Given the description of an element on the screen output the (x, y) to click on. 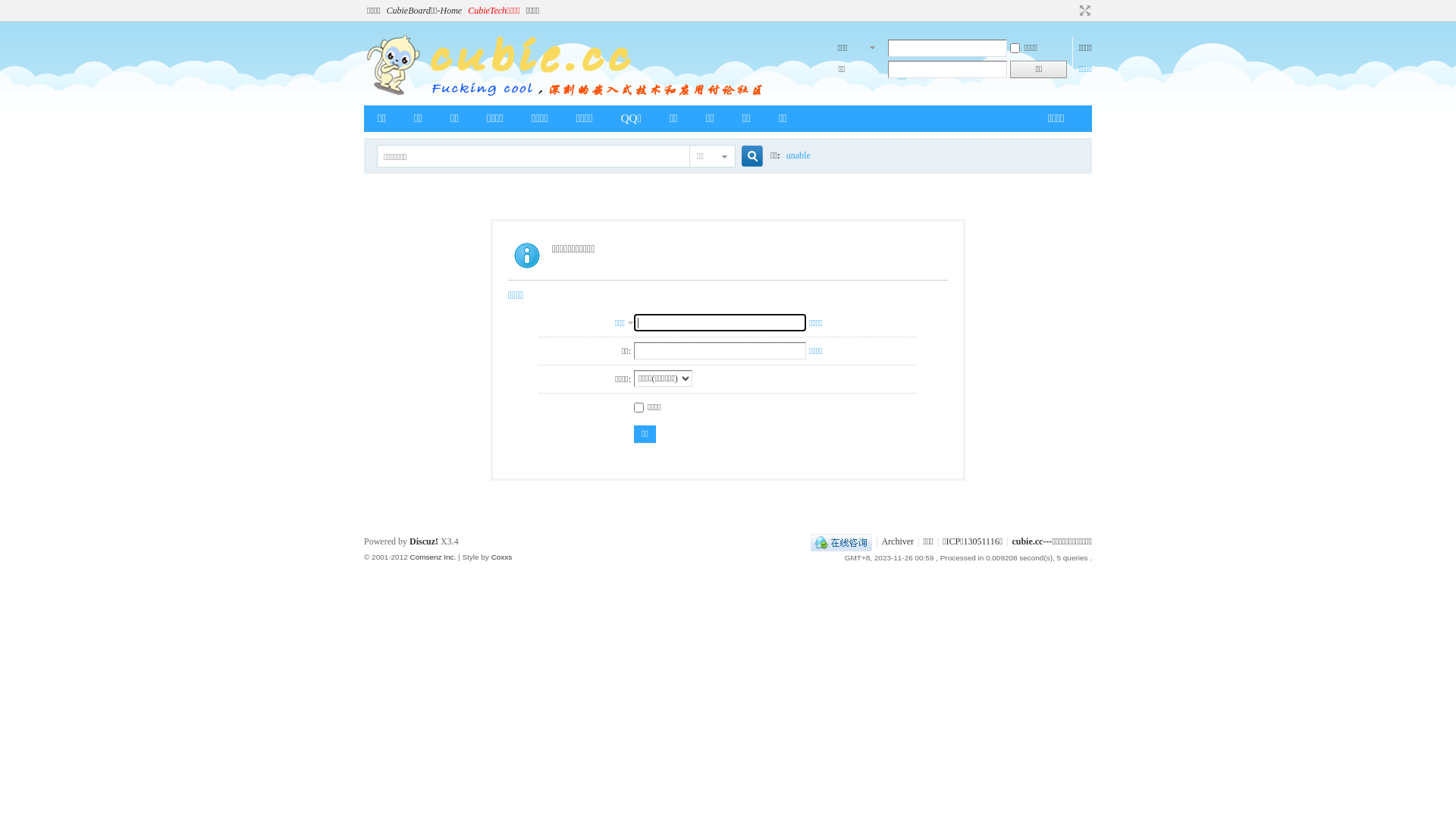
Discuz! Element type: text (423, 541)
true Element type: text (746, 156)
Archiver Element type: text (897, 541)
Comsenz Inc. Element type: text (432, 556)
Coxxs Element type: text (501, 556)
QQ Element type: hover (841, 541)
unable Element type: text (798, 155)
